Given the description of an element on the screen output the (x, y) to click on. 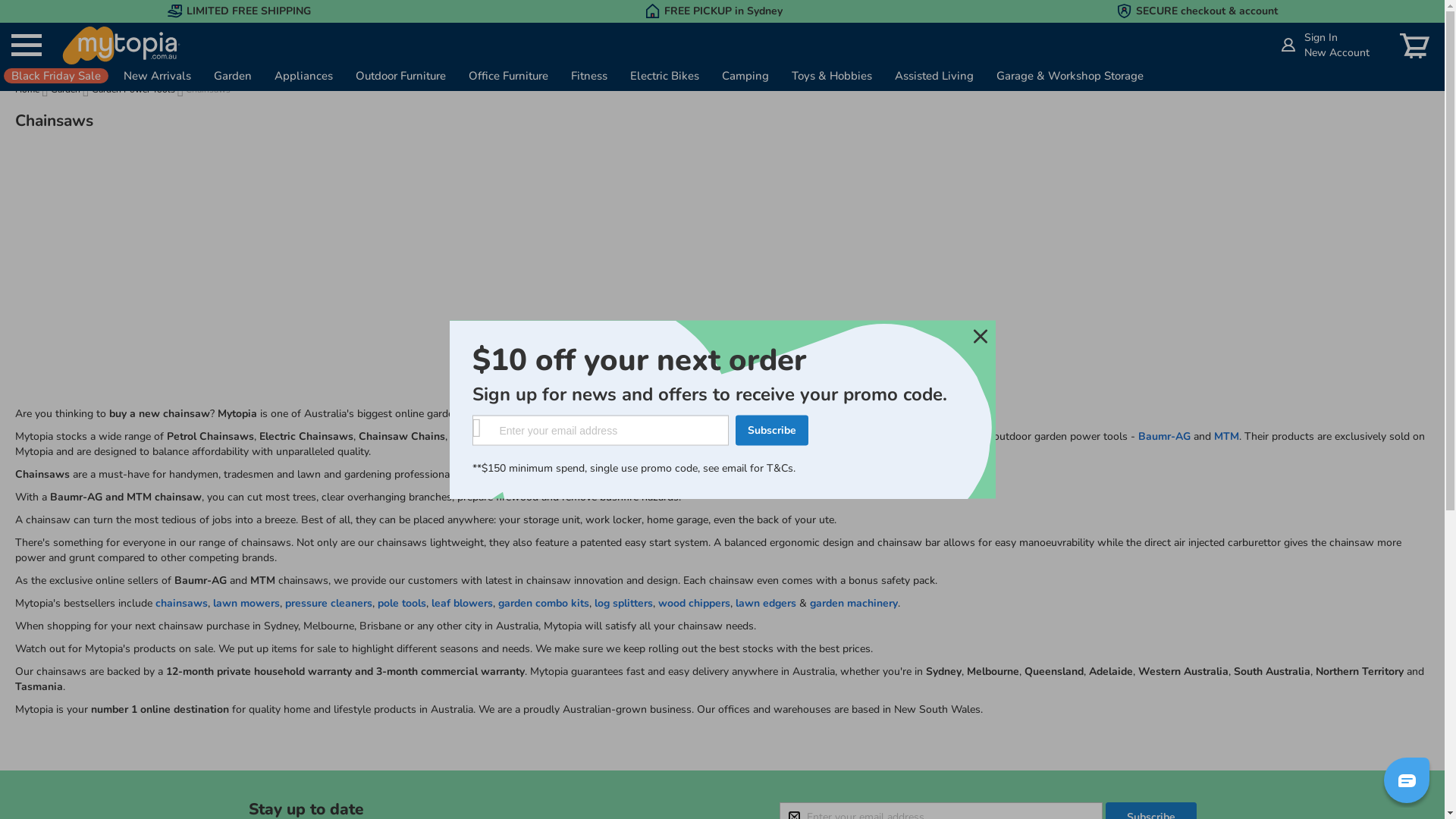
Toys & Hobbies Element type: text (831, 75)
Garden Element type: text (66, 89)
log splitters Element type: text (623, 603)
Outdoor Furniture Element type: text (400, 75)
Subscribe Element type: text (771, 430)
chainsaws Element type: text (181, 603)
Skip to Content Element type: text (1269, 29)
pressure cleaners Element type: text (328, 603)
Appliances Element type: text (303, 75)
MTM Element type: text (1226, 436)
My Cart Element type: text (1414, 45)
Black Friday Sale Element type: text (55, 75)
garden combo kits Element type: text (543, 603)
pole tools Element type: text (401, 603)
New Arrivals Element type: text (157, 75)
Assisted Living Element type: text (934, 75)
Electric Bikes Element type: text (664, 75)
Garage & Workshop Storage Element type: text (1069, 75)
wood chippers Element type: text (694, 603)
New Account Element type: text (1336, 52)
lawn edgers Element type: text (765, 603)
Fitness Element type: text (589, 75)
leaf blowers Element type: text (461, 603)
lawn mowers Element type: text (246, 603)
Chat Element type: hover (1406, 778)
Garden Element type: text (232, 75)
Sign In Element type: text (1320, 37)
Office Furniture Element type: text (508, 75)
Garden Power Tools Element type: text (134, 89)
Baumr-AG Element type: text (1164, 436)
Camping Element type: text (745, 75)
garden machinery Element type: text (853, 603)
Home Element type: text (28, 89)
